Given the description of an element on the screen output the (x, y) to click on. 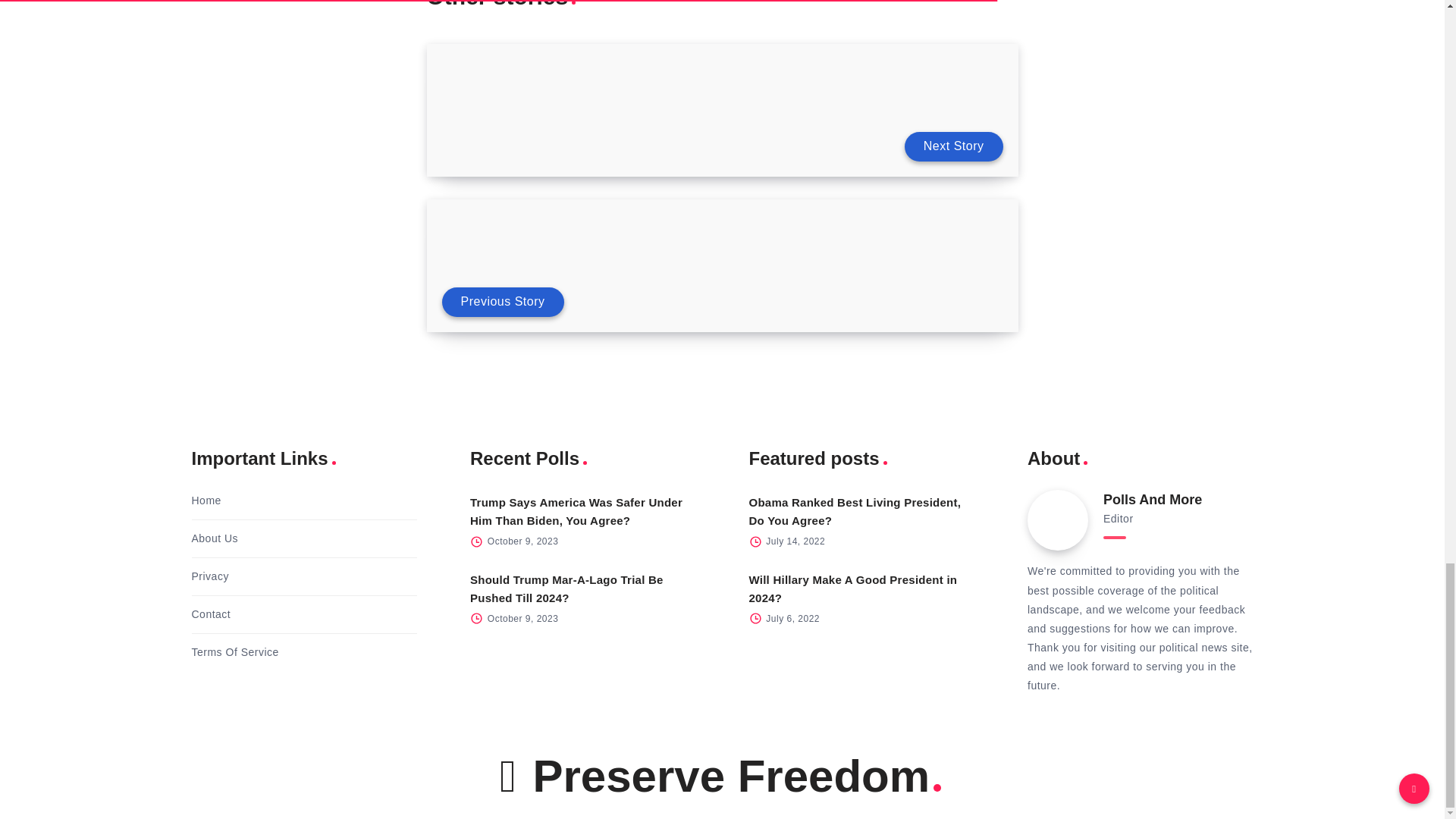
Terms Of Service (234, 651)
Will Hillary Make A Good President in 2024? (853, 588)
About Us (214, 538)
Privacy (209, 576)
Obama Ranked Best Living President, Do You Agree? (854, 511)
Home (205, 500)
Should Trump Mar-A-Lago Trial Be Pushed Till 2024? (566, 588)
Contact (210, 614)
